Given the description of an element on the screen output the (x, y) to click on. 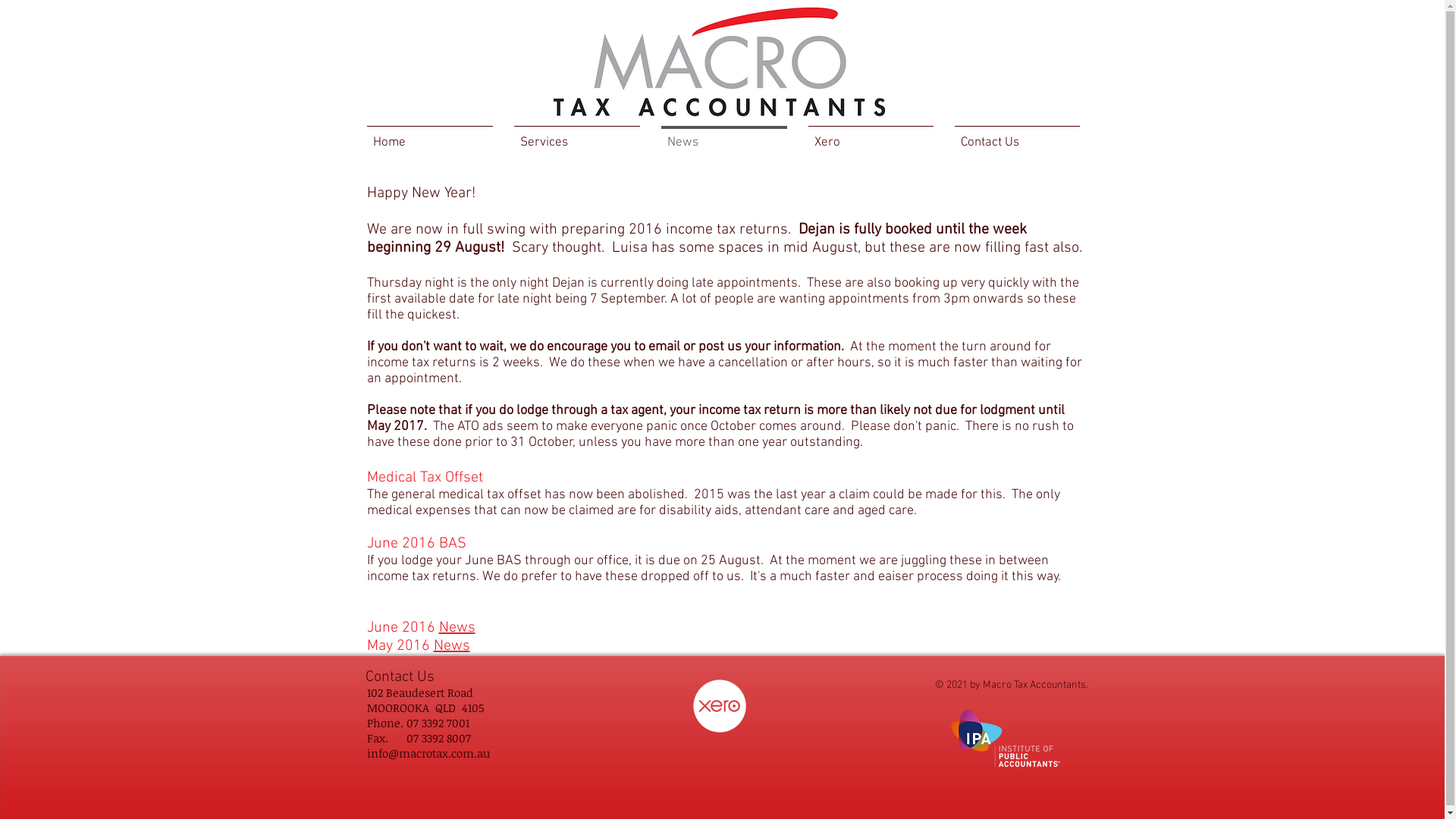
Services Element type: text (576, 135)
Xero Element type: text (870, 135)
Contact Us Element type: text (1016, 135)
Home Element type: text (429, 135)
info@macrotax.com.au Element type: text (428, 752)
News Element type: text (456, 627)
News Element type: text (451, 646)
News Element type: text (723, 135)
